Given the description of an element on the screen output the (x, y) to click on. 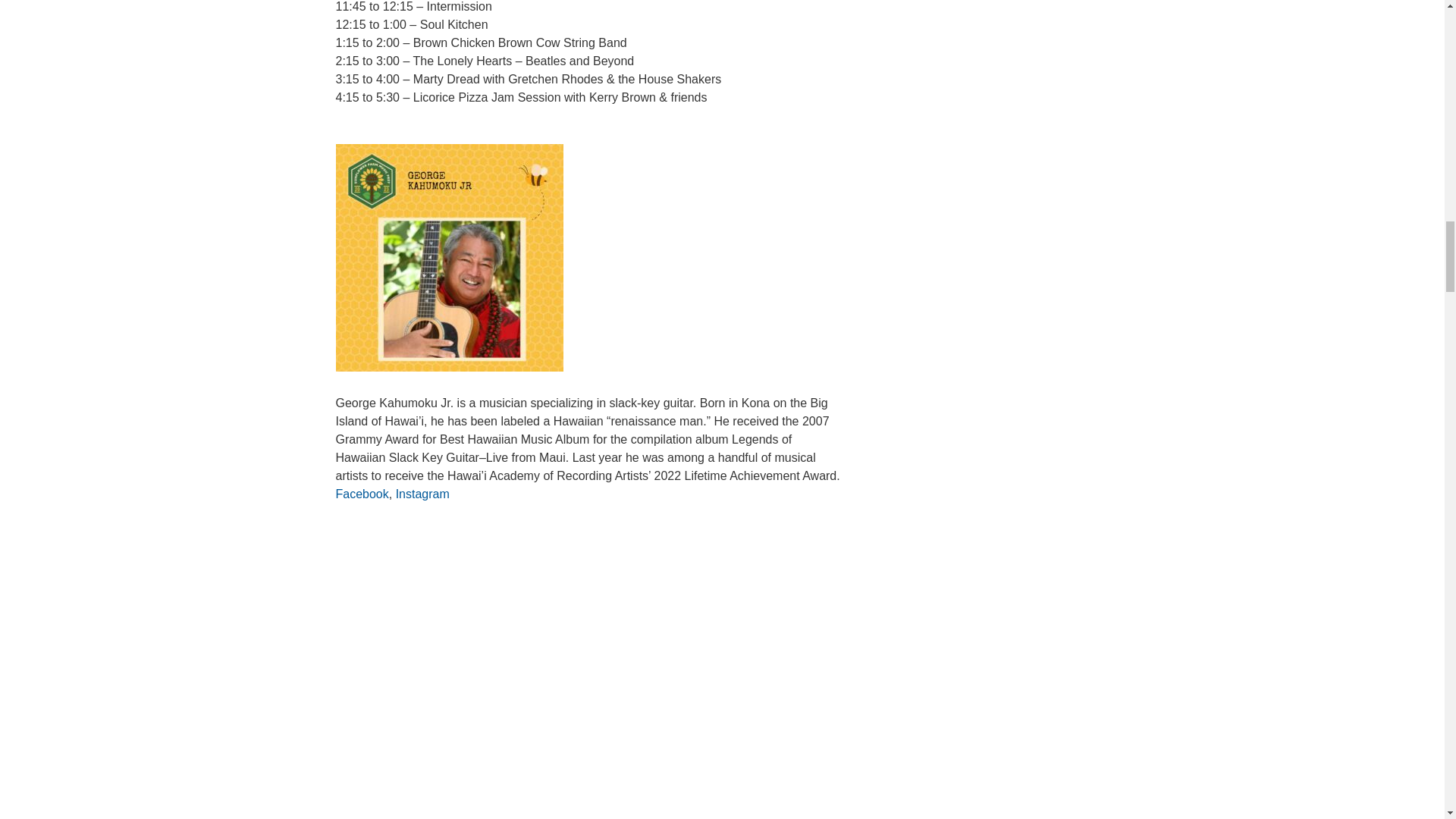
Instagram (422, 493)
Facebook (361, 493)
